Given the description of an element on the screen output the (x, y) to click on. 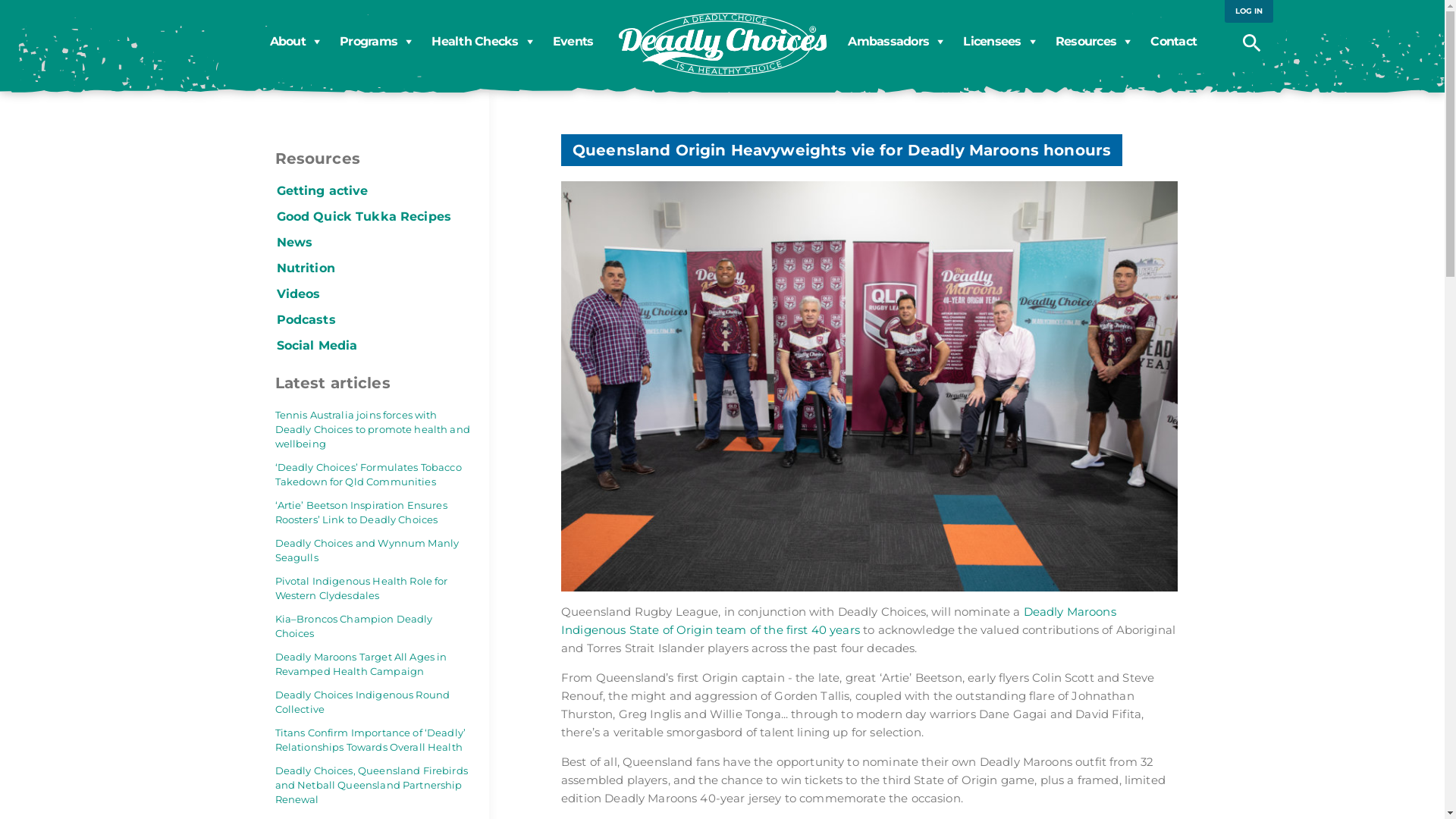
Nutrition Element type: text (304, 268)
Videos Element type: text (297, 294)
Podcasts Element type: text (305, 319)
Resources Element type: text (1094, 41)
News Element type: text (293, 242)
Deadly Maroons Target All Ages in Revamped Health Campaign Element type: text (371, 664)
Health Checks Element type: text (482, 41)
About Element type: text (295, 41)
Deadly Choices Indigenous Round Collective Element type: text (371, 702)
Deadly Choices and Wynnum Manly Seagulls Element type: text (371, 550)
Pivotal Indigenous Health Role for Western Clydesdales Element type: text (371, 588)
Events Element type: text (572, 41)
Programs Element type: text (376, 41)
Contact Element type: text (1173, 41)
Getting active Element type: text (321, 190)
Good Quick Tukka Recipes Element type: text (363, 216)
Social Media Element type: text (316, 345)
Ambassadors Element type: text (895, 41)
LOG IN Element type: text (1248, 11)
Licensees Element type: text (999, 41)
